Given the description of an element on the screen output the (x, y) to click on. 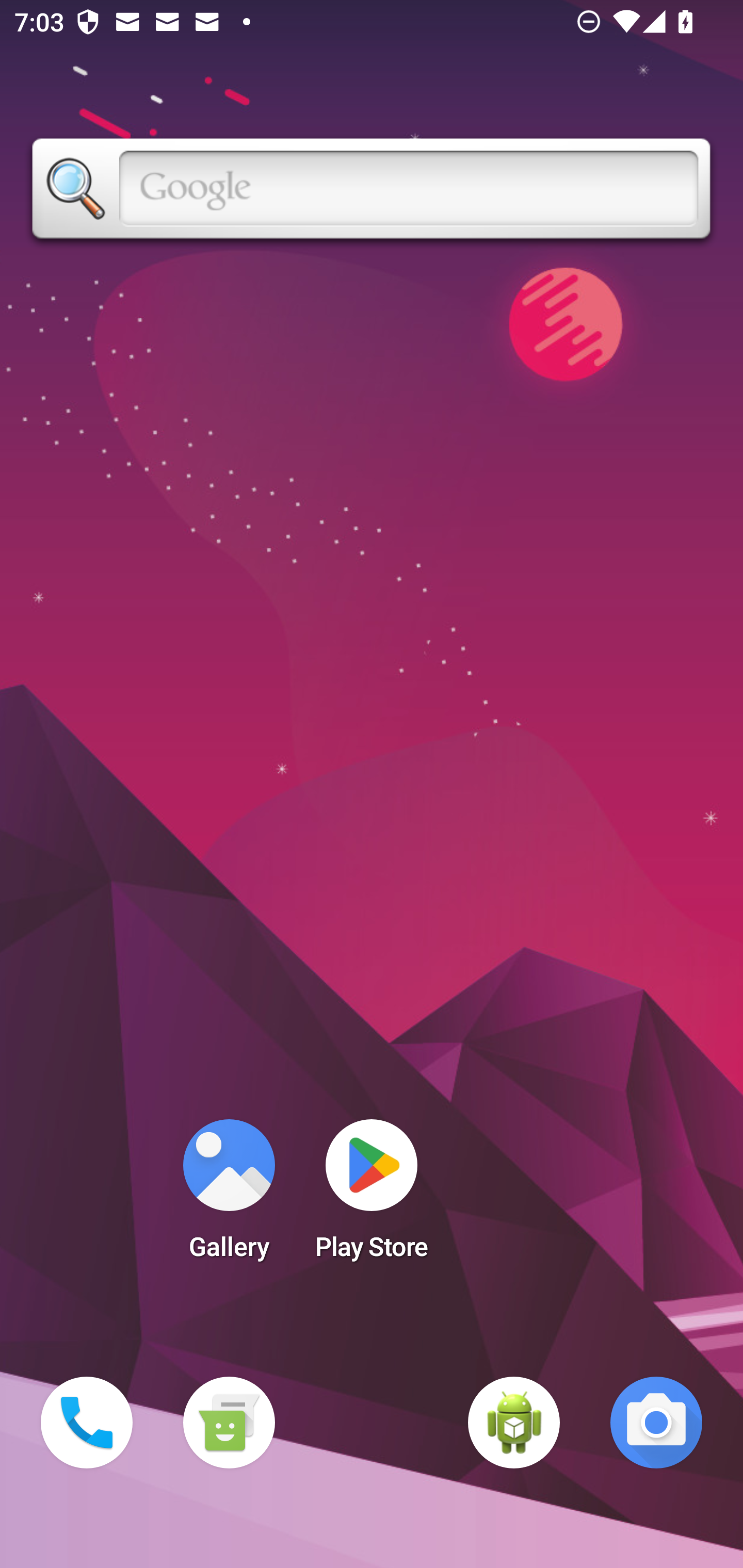
Gallery (228, 1195)
Play Store (371, 1195)
Phone (86, 1422)
Messaging (228, 1422)
WebView Browser Tester (513, 1422)
Camera (656, 1422)
